Given the description of an element on the screen output the (x, y) to click on. 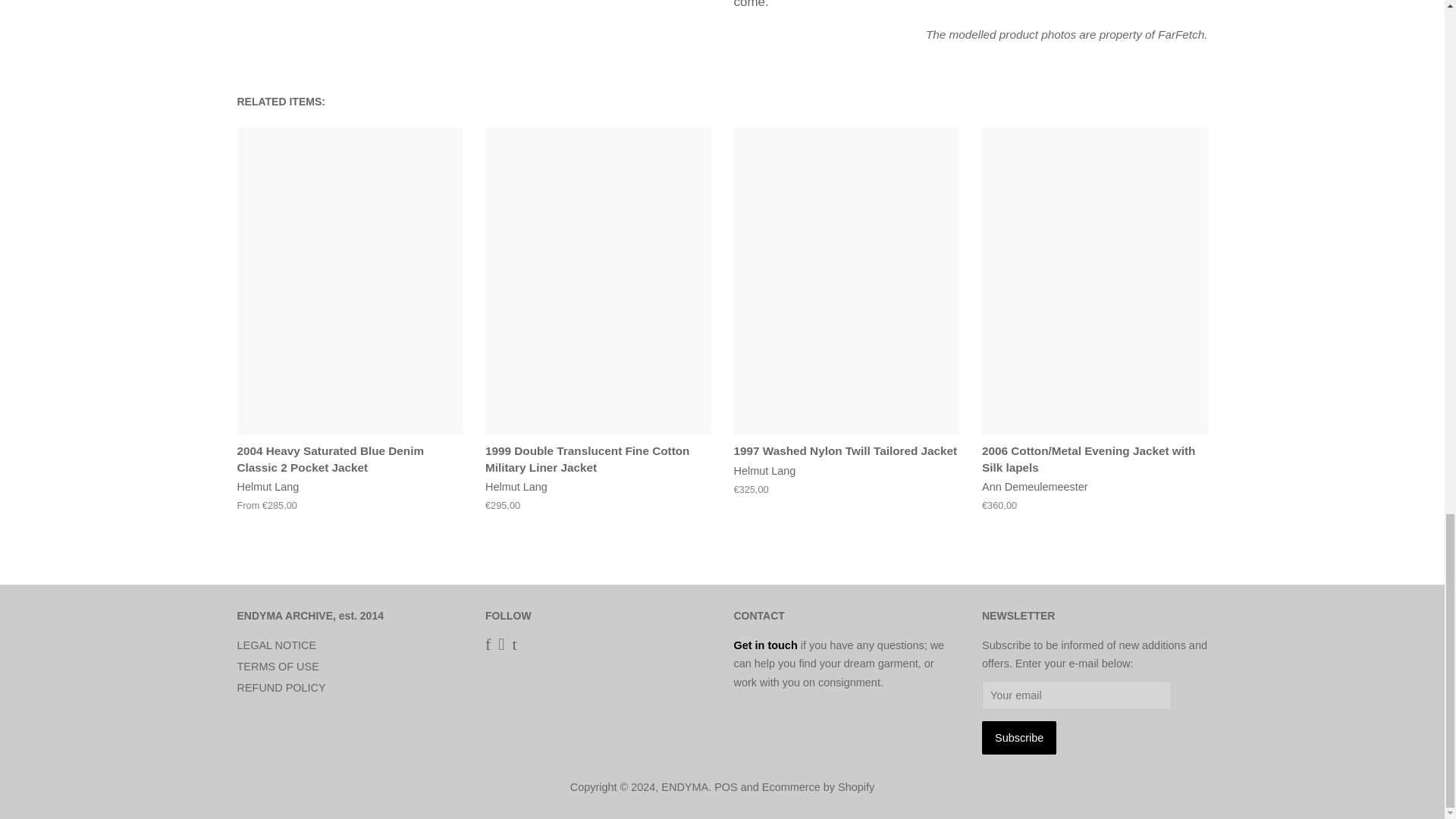
ENDYMA on Facebook (487, 645)
ENDYMA on Tumblr (514, 645)
ENDYMA on Instagram (500, 645)
Subscribe (1019, 737)
